Given the description of an element on the screen output the (x, y) to click on. 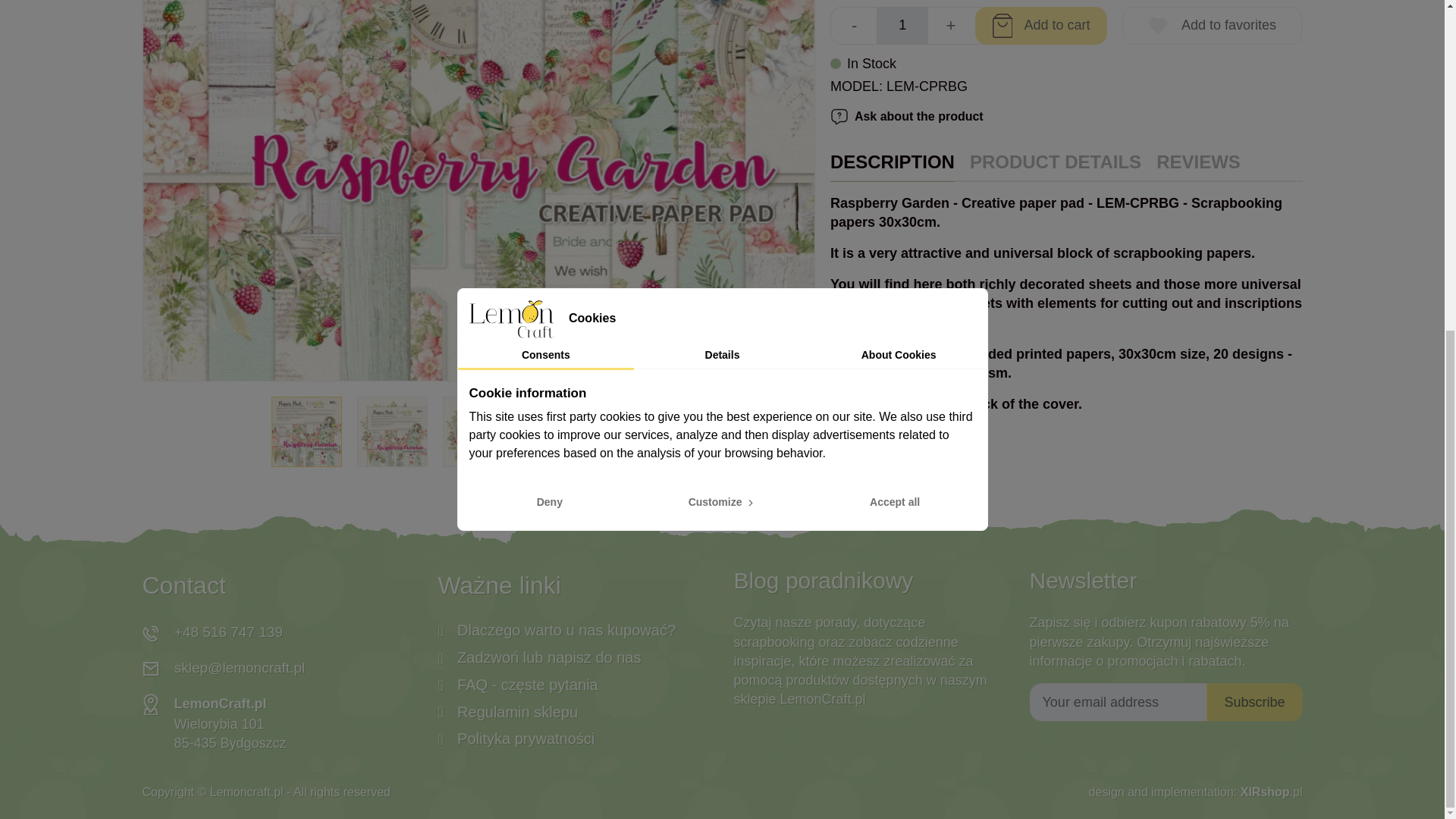
Subscribe (1254, 702)
1 (902, 25)
